Given the description of an element on the screen output the (x, y) to click on. 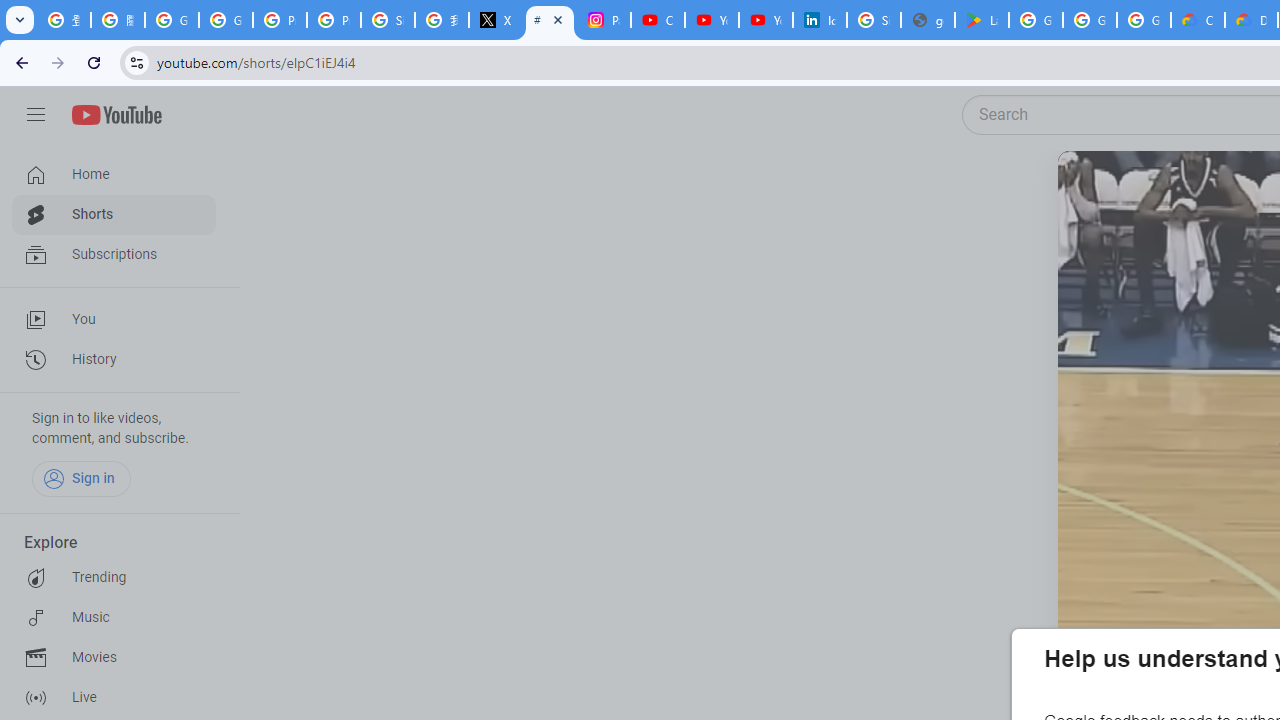
#nbabasketballhighlights - YouTube (550, 20)
Sign in - Google Accounts (874, 20)
Live (113, 697)
google_privacy_policy_en.pdf (927, 20)
Music (113, 617)
Subscriptions (113, 254)
Customer Care | Google Cloud (1197, 20)
